Given the description of an element on the screen output the (x, y) to click on. 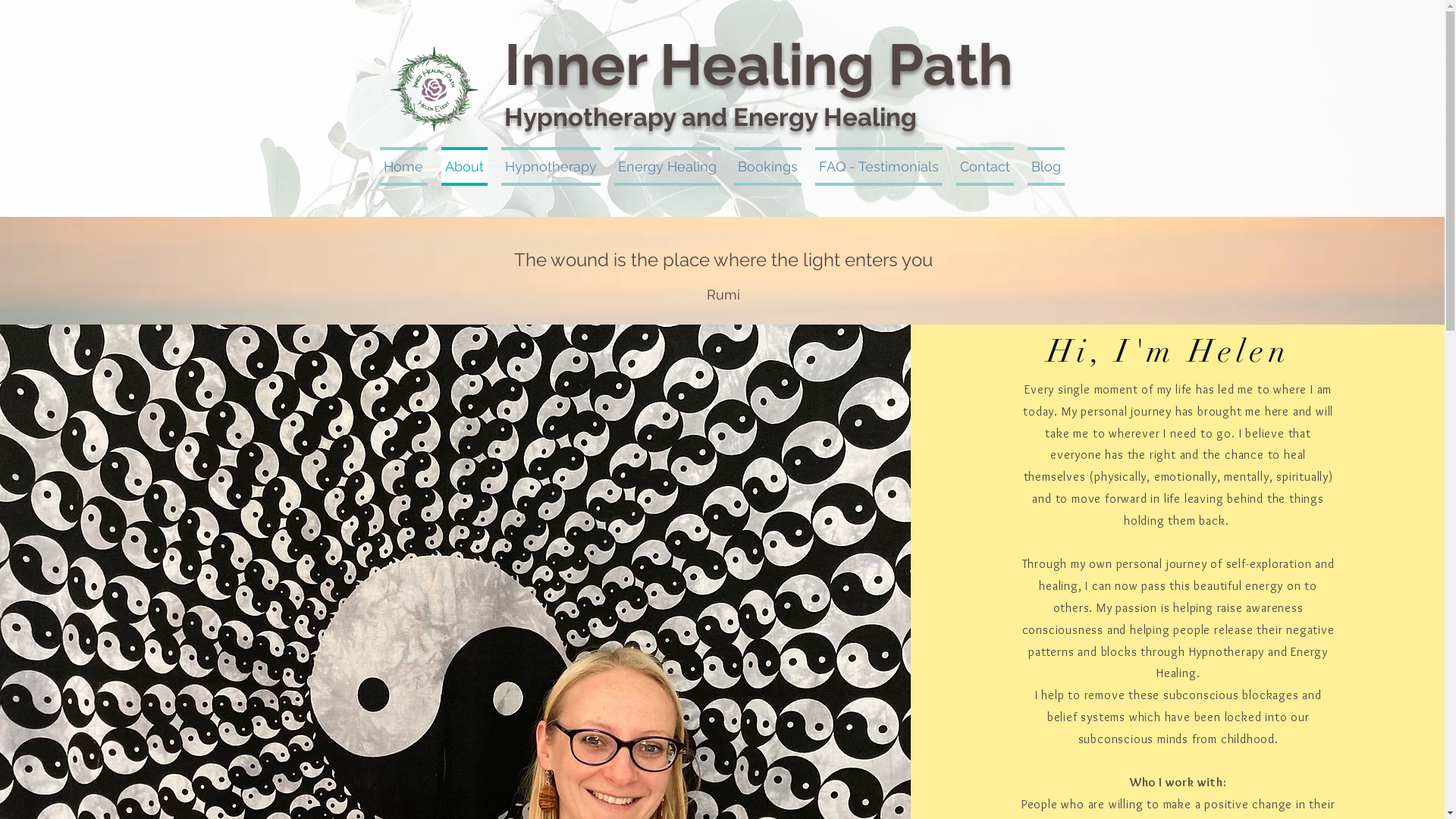
About Element type: text (463, 166)
Bookings Element type: text (766, 166)
Blog Element type: text (1042, 166)
Hypnotherapy Element type: text (550, 166)
Home Element type: text (406, 166)
Inner Healing Path transparetn background.png Element type: hover (434, 89)
Energy Healing Element type: text (666, 166)
Contact Element type: text (984, 166)
FAQ - Testimonials Element type: text (878, 166)
